Given the description of an element on the screen output the (x, y) to click on. 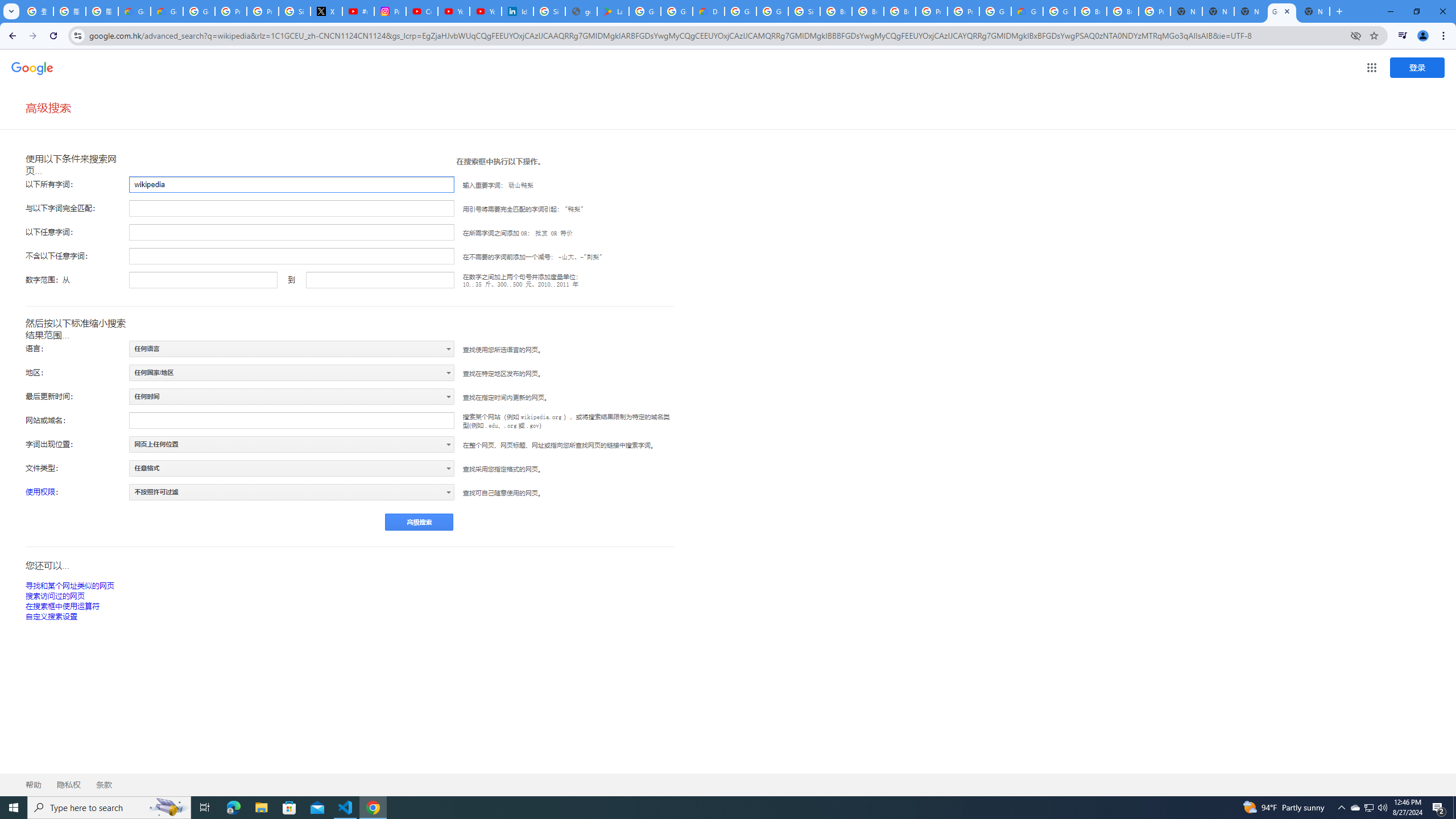
Google Cloud Platform (995, 11)
#nbabasketballhighlights - YouTube (358, 11)
X (326, 11)
Sign in - Google Accounts (804, 11)
Sign in - Google Accounts (549, 11)
